Given the description of an element on the screen output the (x, y) to click on. 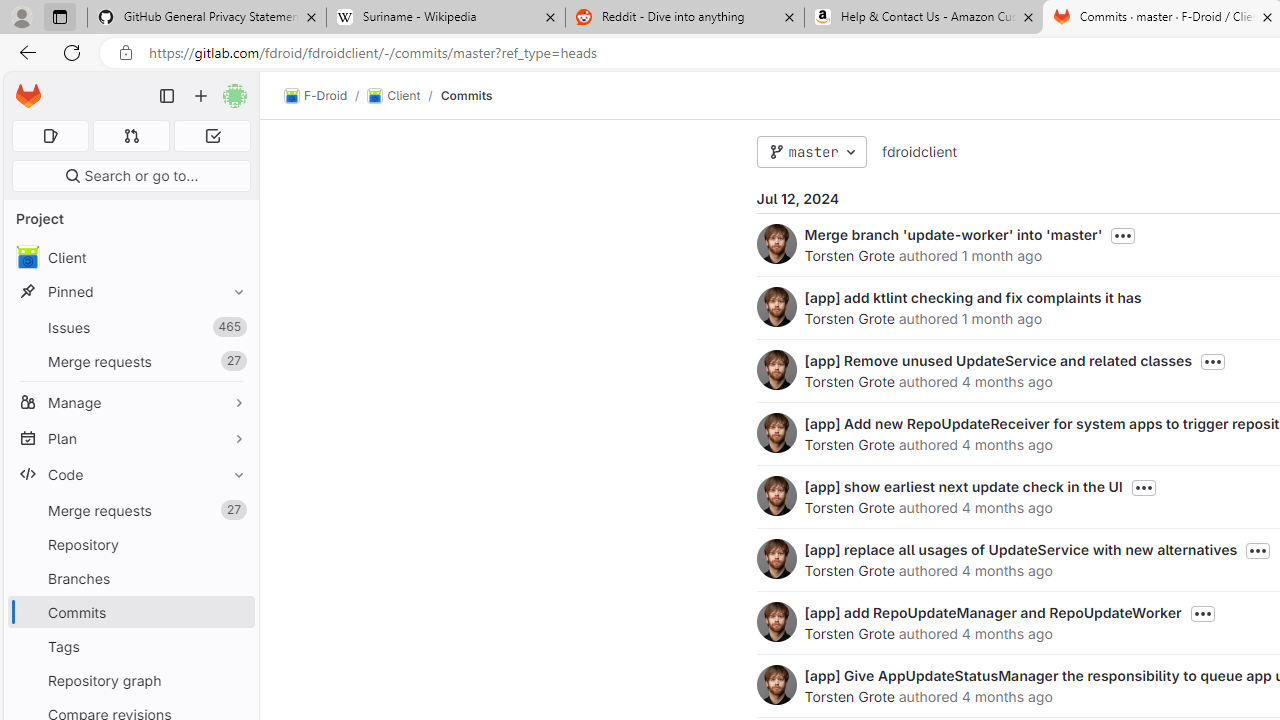
fdroidclient (918, 151)
Plan (130, 438)
Suriname - Wikipedia (445, 17)
[app] add ktlint checking and fix complaints it has (972, 297)
Pin Repository (234, 544)
Merge requests 0 (131, 136)
Commits (466, 95)
Plan (130, 438)
Client (394, 96)
Pinned (130, 291)
Torsten Grote's avatar (776, 684)
Issues465 (130, 327)
